Given the description of an element on the screen output the (x, y) to click on. 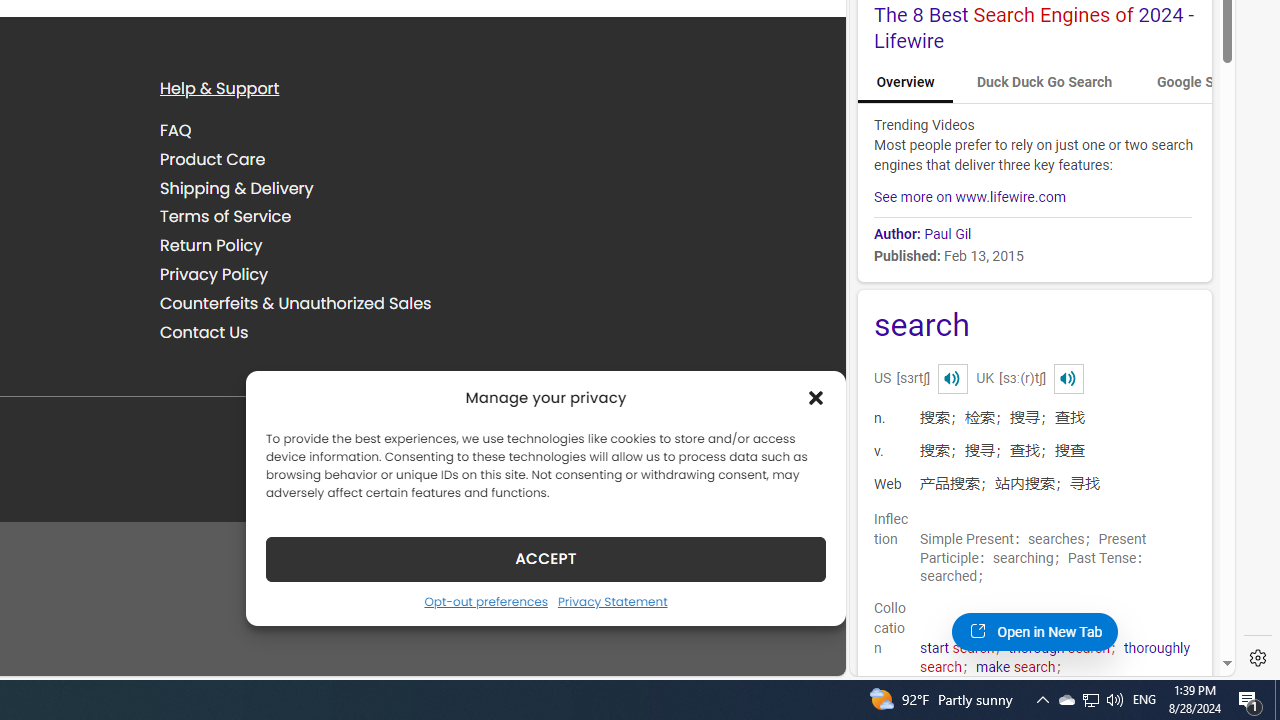
Privacy Statement (612, 601)
make search (1015, 667)
Return Policy (211, 245)
Published: Feb 13, 2015 (1032, 254)
Terms of Service (325, 216)
Product Care (325, 159)
start search (957, 648)
Privacy Policy (325, 274)
search (1034, 327)
Counterfeits & Unauthorized Sales (325, 303)
